Given the description of an element on the screen output the (x, y) to click on. 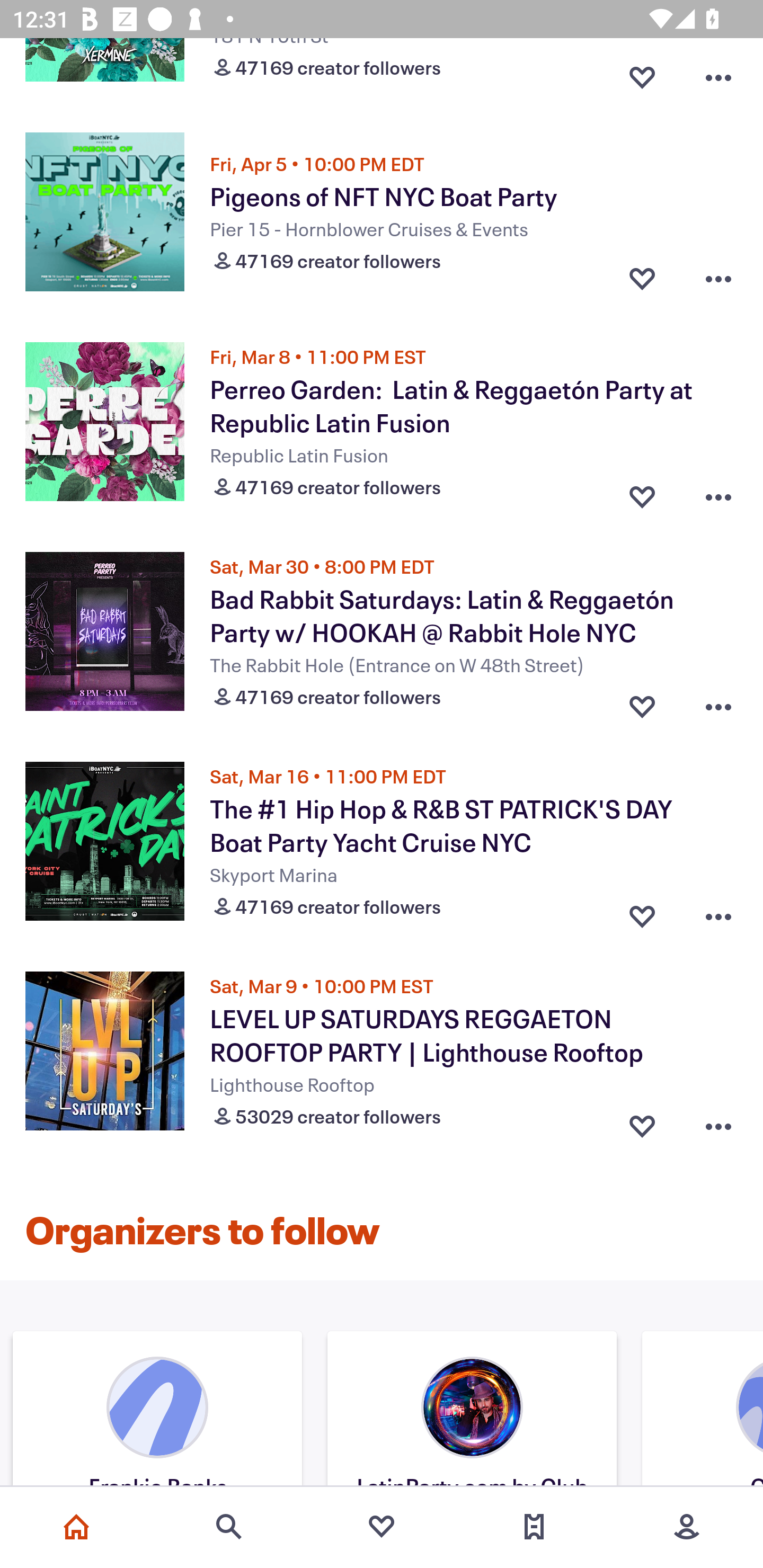
Favorite button (642, 72)
Overflow menu button (718, 72)
Favorite button (642, 278)
Overflow menu button (718, 278)
Favorite button (642, 492)
Overflow menu button (718, 492)
Favorite button (642, 702)
Overflow menu button (718, 702)
Favorite button (642, 911)
Overflow menu button (718, 911)
Favorite button (642, 1121)
Overflow menu button (718, 1121)
Organizer's image Frankie Banks (157, 1411)
Organizer's image LatinParty.com by Club Cache (471, 1411)
Home (76, 1526)
Search events (228, 1526)
Favorites (381, 1526)
Tickets (533, 1526)
More (686, 1526)
